Given the description of an element on the screen output the (x, y) to click on. 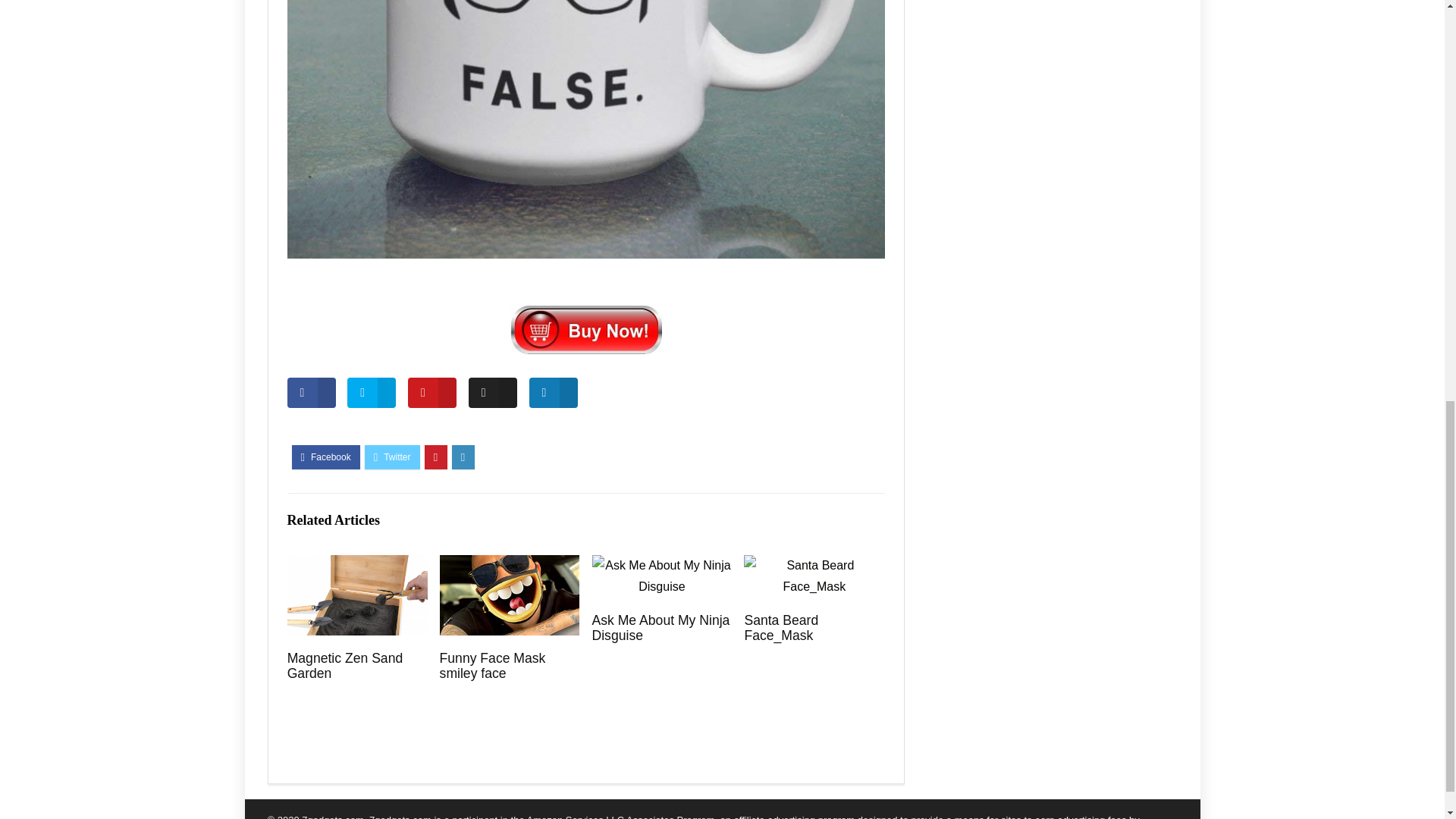
Buy now! (585, 328)
Funny Face Mask smiley face (492, 665)
Magnetic Zen Sand Garden (344, 665)
Ask Me About My Ninja Disguise (660, 627)
